Given the description of an element on the screen output the (x, y) to click on. 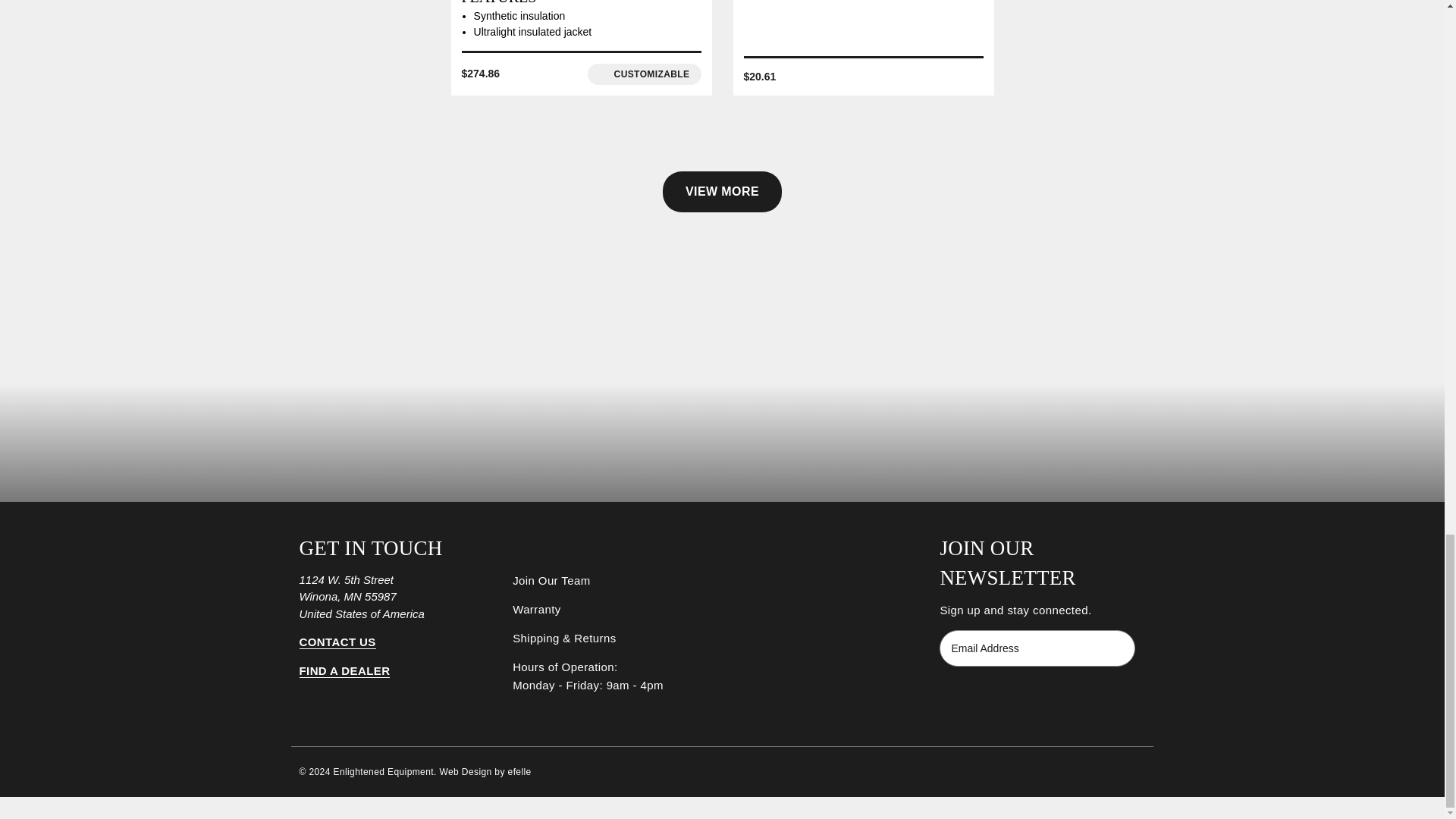
Youtube (1002, 697)
Facebook (947, 697)
Twitter (1030, 697)
Subscribe (1110, 647)
Instagram (976, 697)
